Given the description of an element on the screen output the (x, y) to click on. 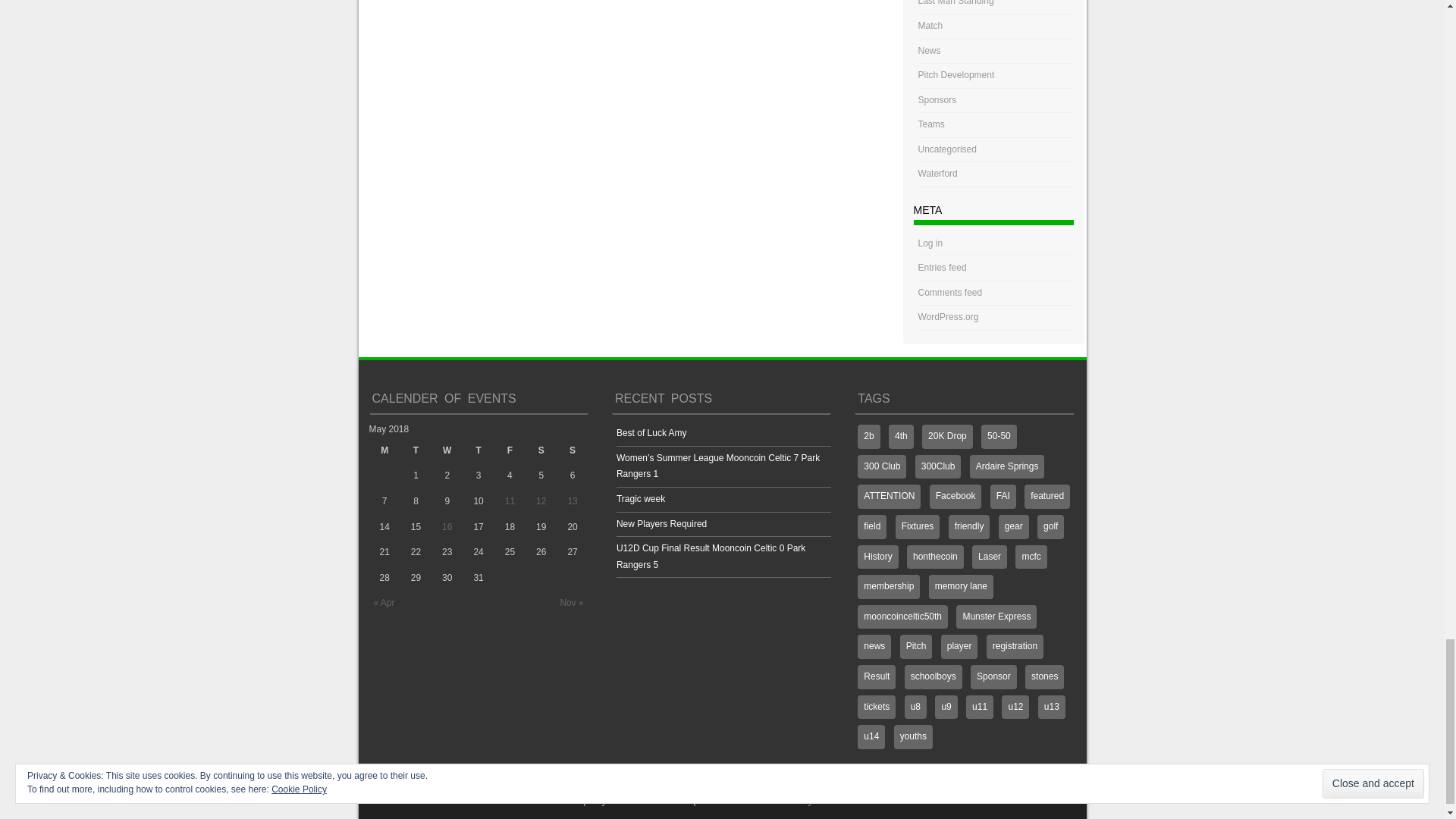
Friday (510, 451)
Monday (383, 451)
Sunday (572, 451)
Saturday (540, 451)
November 2018 (571, 602)
Tuesday (415, 451)
Thursday (478, 451)
Wednesday (446, 451)
April 2018 (383, 602)
